Given the description of an element on the screen output the (x, y) to click on. 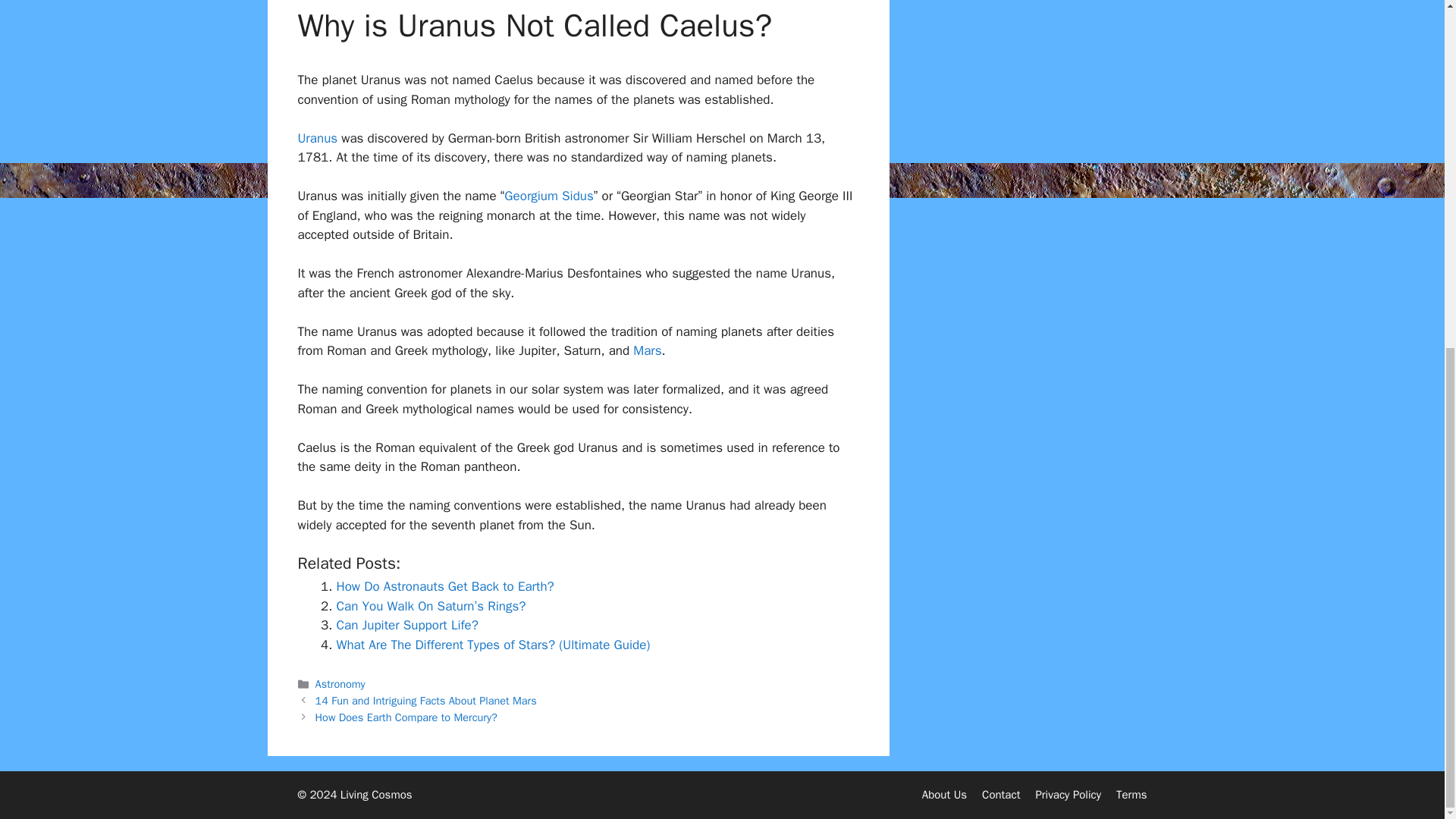
Can Jupiter Support Life? (407, 625)
How Do Astronauts Get Back to Earth? (445, 586)
